Given the description of an element on the screen output the (x, y) to click on. 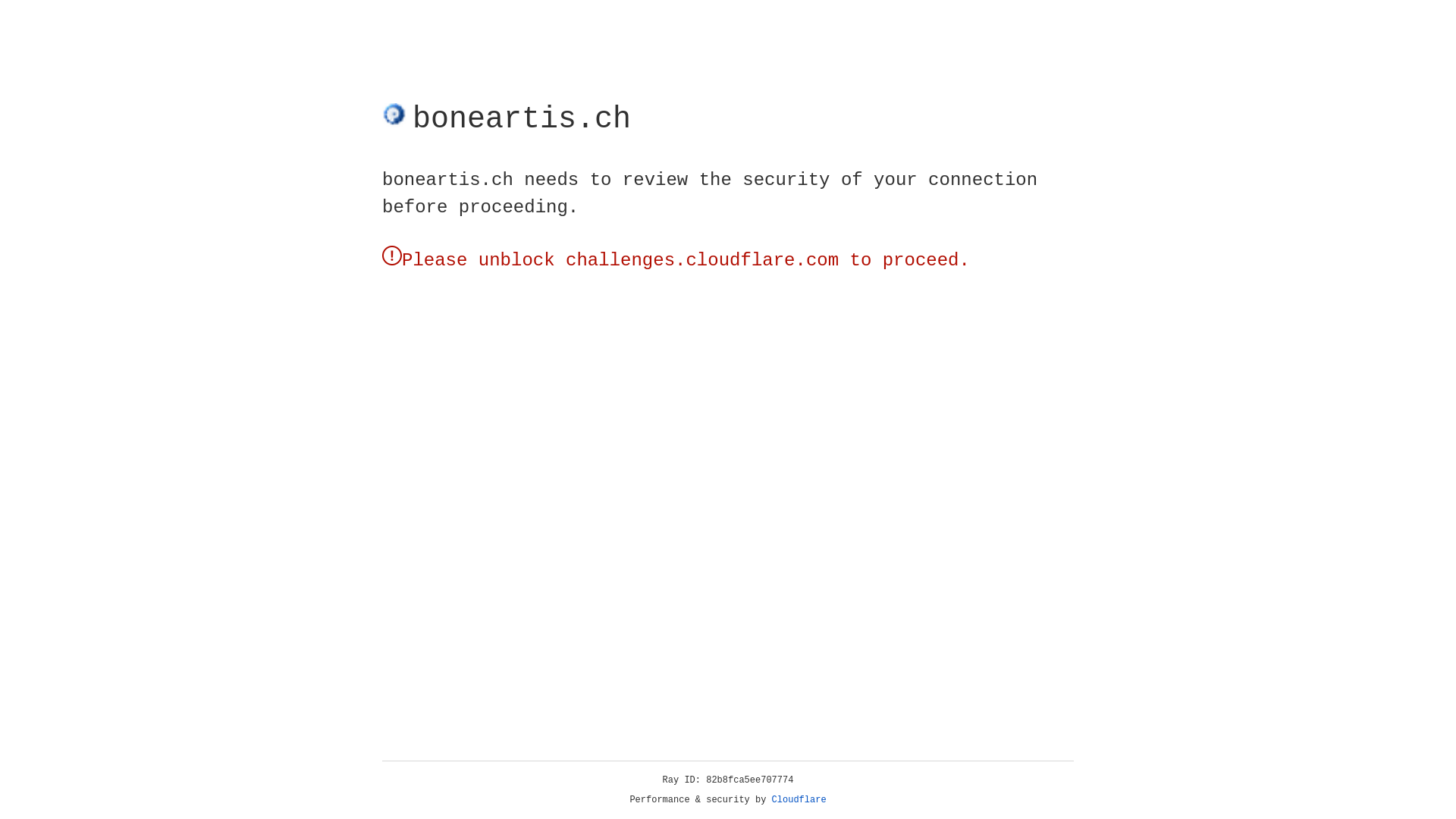
Cloudflare Element type: text (798, 799)
